Given the description of an element on the screen output the (x, y) to click on. 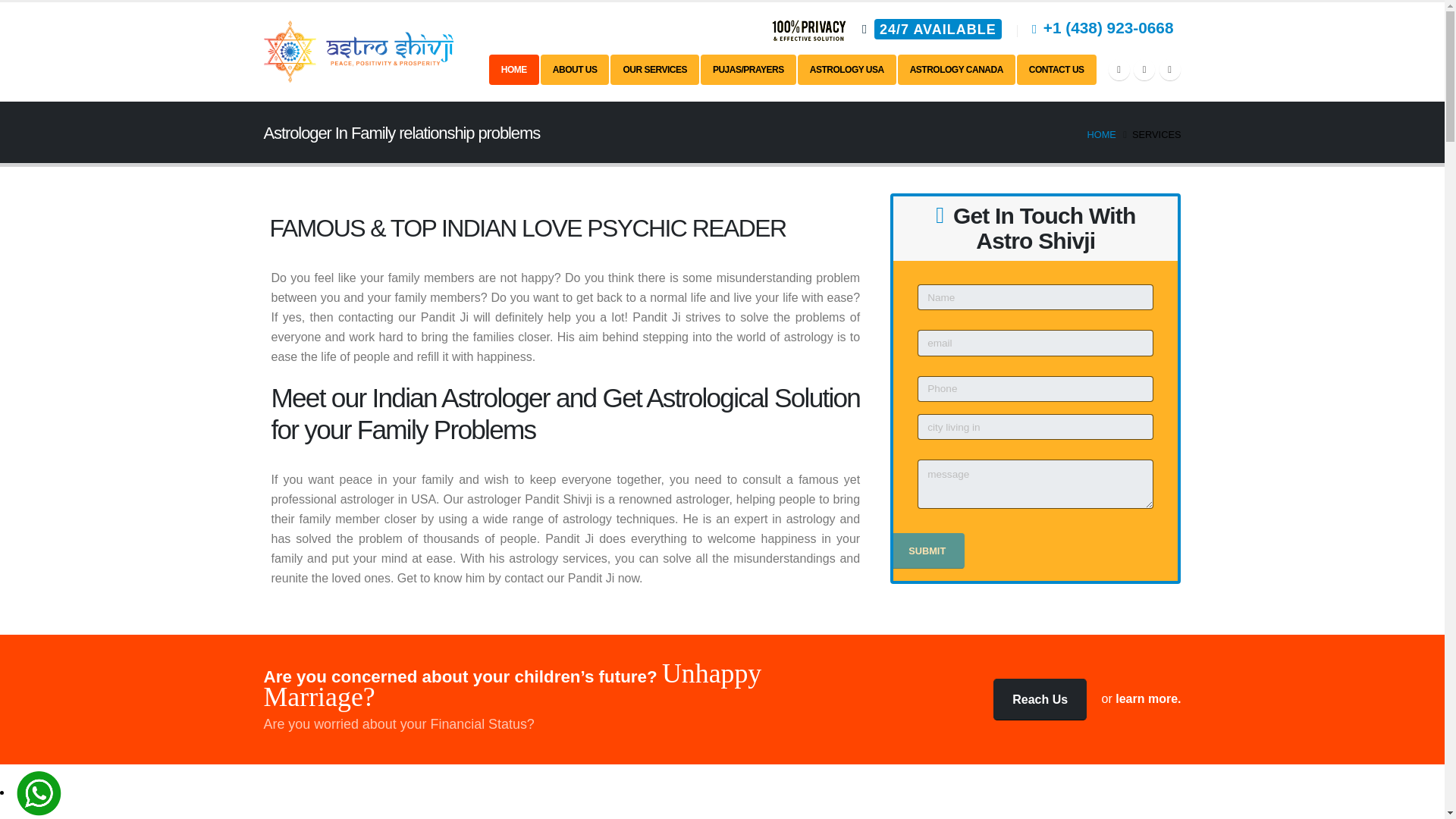
Submit (926, 550)
OUR SERVICES (654, 69)
HOME (513, 69)
ABOUT US (575, 69)
